Given the description of an element on the screen output the (x, y) to click on. 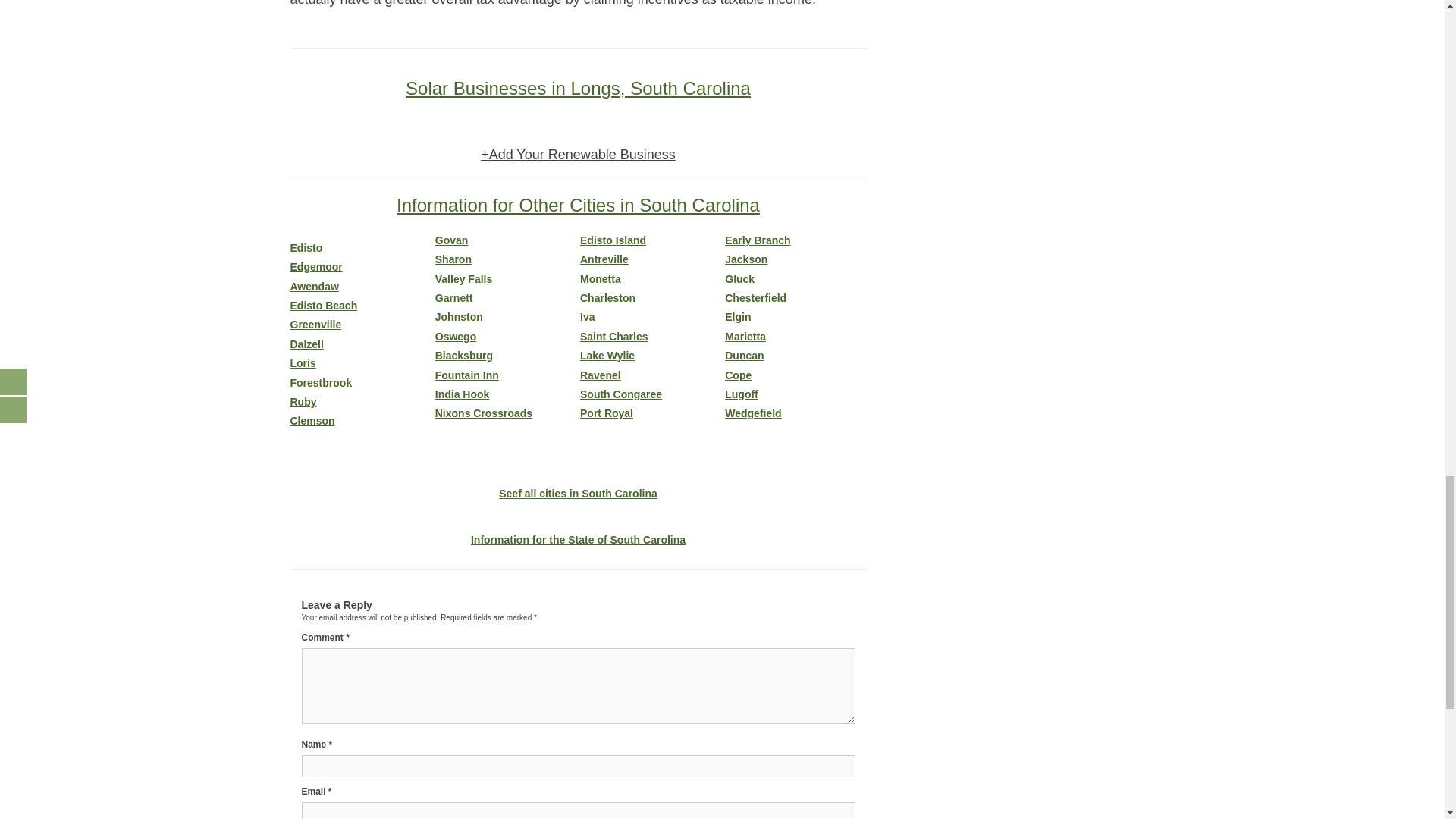
Blacksburg (505, 355)
Ruby (359, 401)
Charleston (649, 297)
Forestbrook (359, 383)
Edgemoor (359, 266)
Govan (505, 240)
Greenville (359, 324)
Loris (359, 363)
Edisto (359, 247)
Monetta (649, 279)
